Given the description of an element on the screen output the (x, y) to click on. 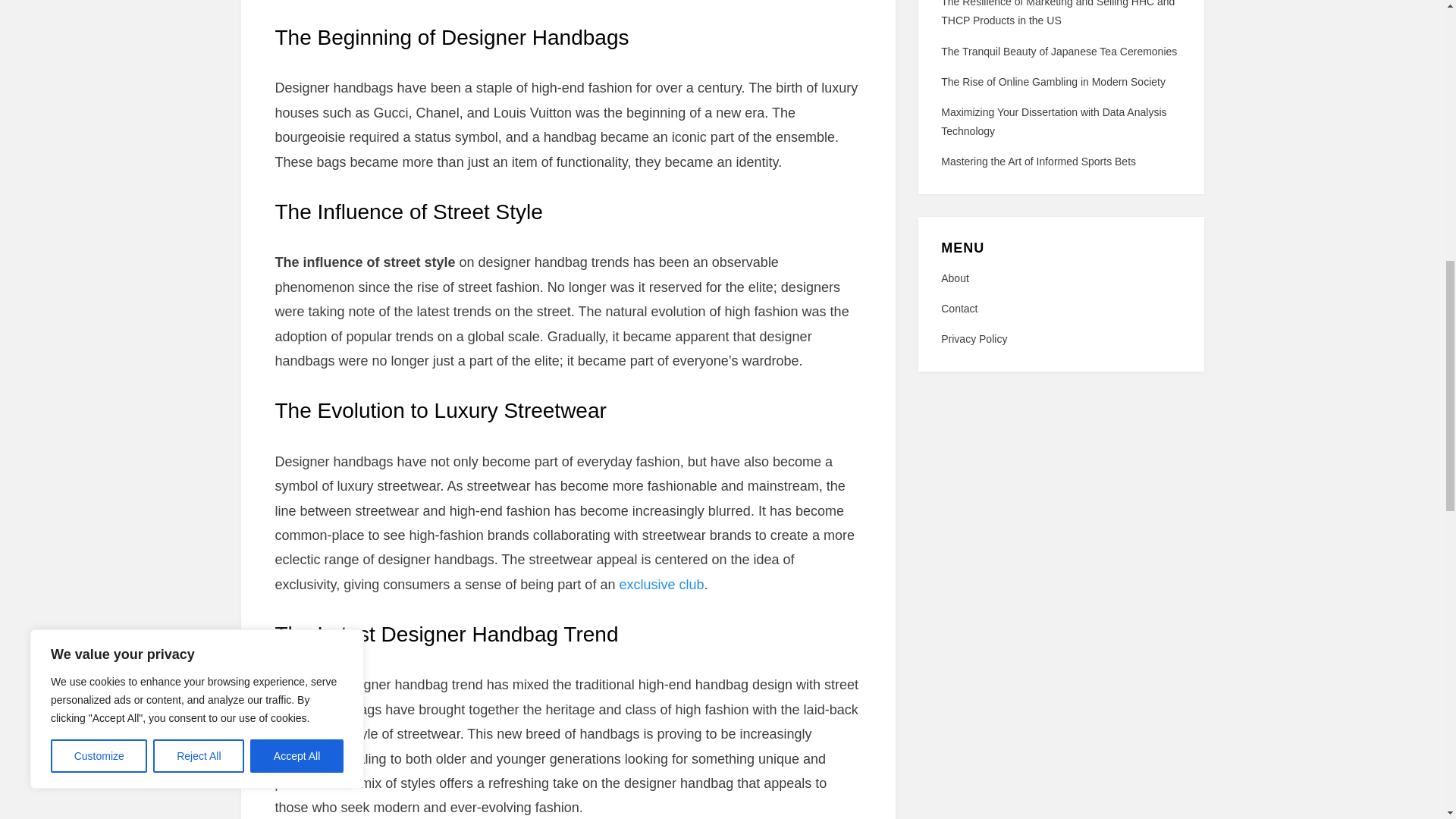
exclusive club (660, 584)
